Given the description of an element on the screen output the (x, y) to click on. 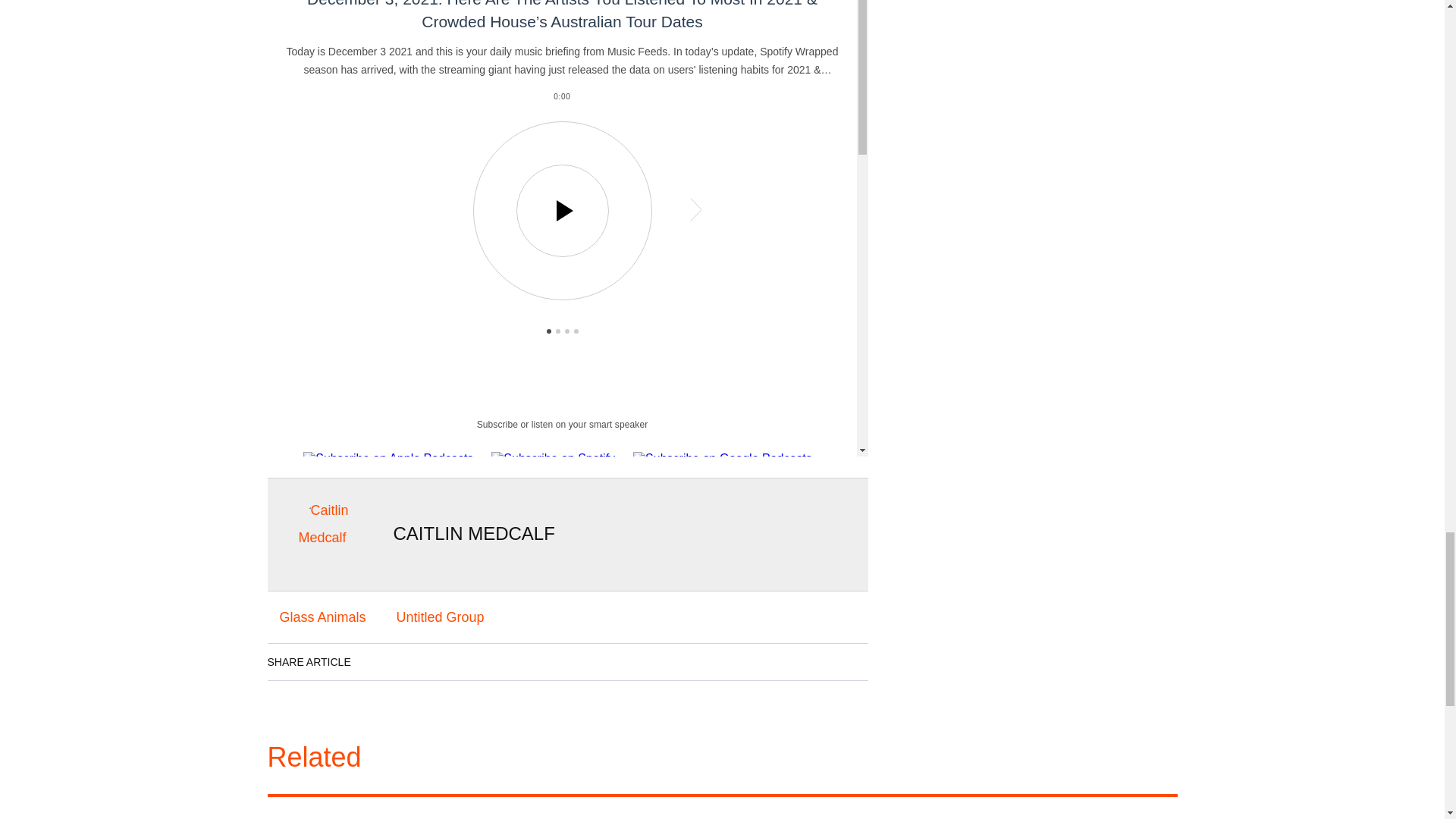
Untitled Group (440, 616)
LinkedIn (420, 662)
Twitter (463, 662)
Glass Animals (321, 616)
CAITLIN MEDCALF (473, 533)
Facebook (377, 662)
